Given the description of an element on the screen output the (x, y) to click on. 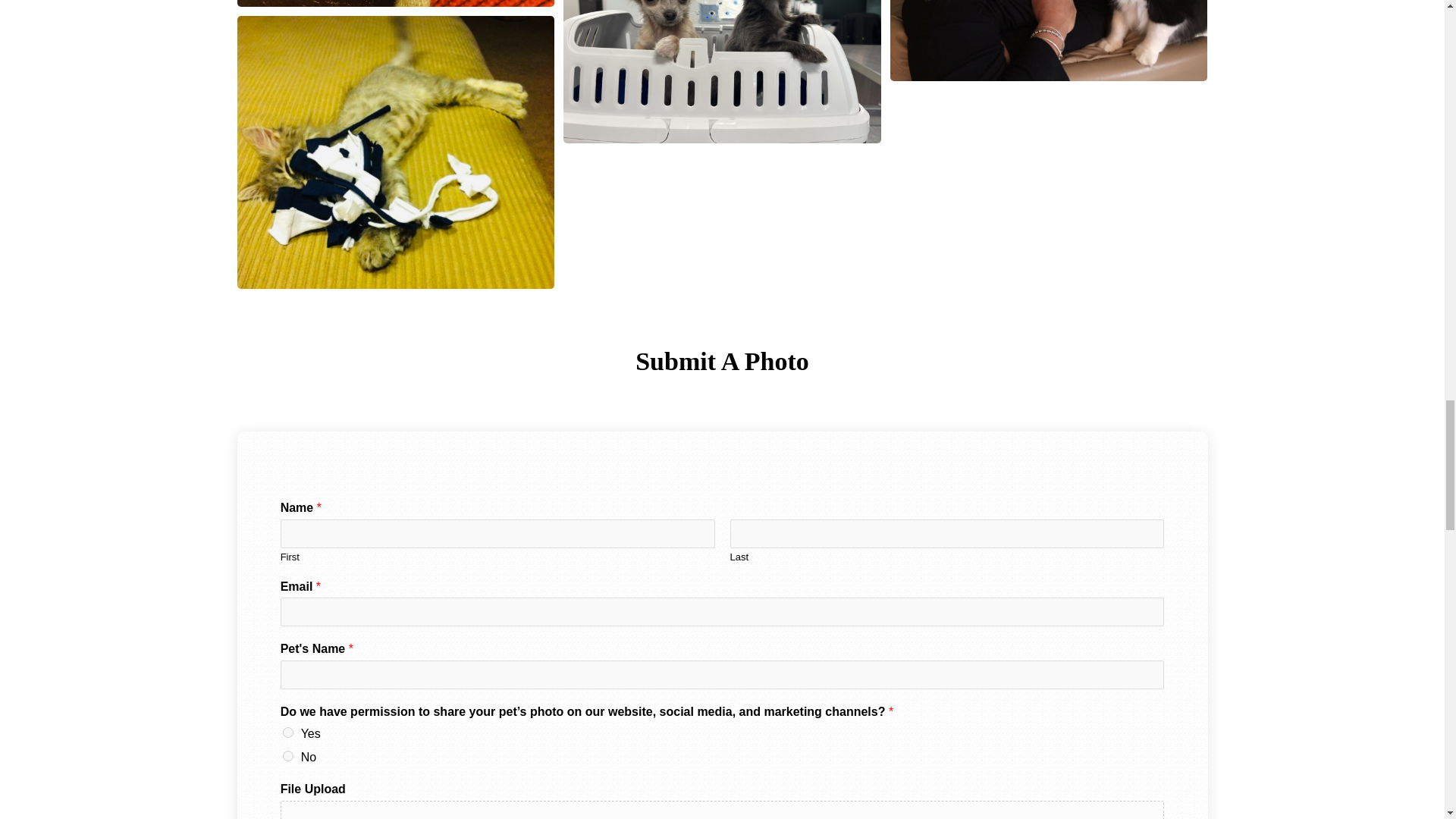
Yes (288, 732)
IMG-5480 (721, 71)
No (288, 756)
Gus (394, 3)
Dr. Carrie Bonemer (1048, 40)
